Given the description of an element on the screen output the (x, y) to click on. 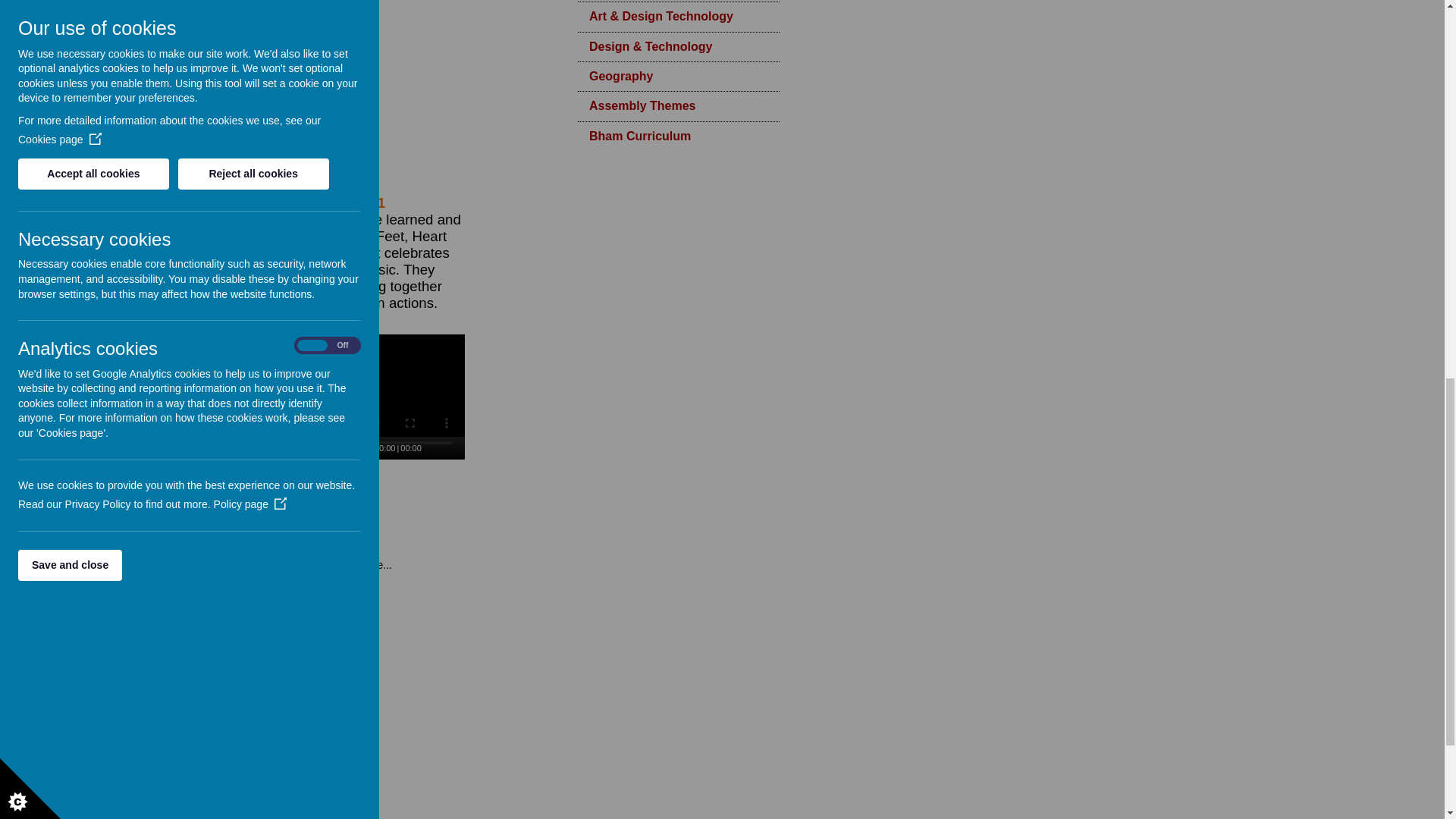
Mute (435, 448)
Fullscreen (454, 448)
Geography (678, 76)
Assembly Themes (678, 105)
Bham Curriculum (678, 136)
